Given the description of an element on the screen output the (x, y) to click on. 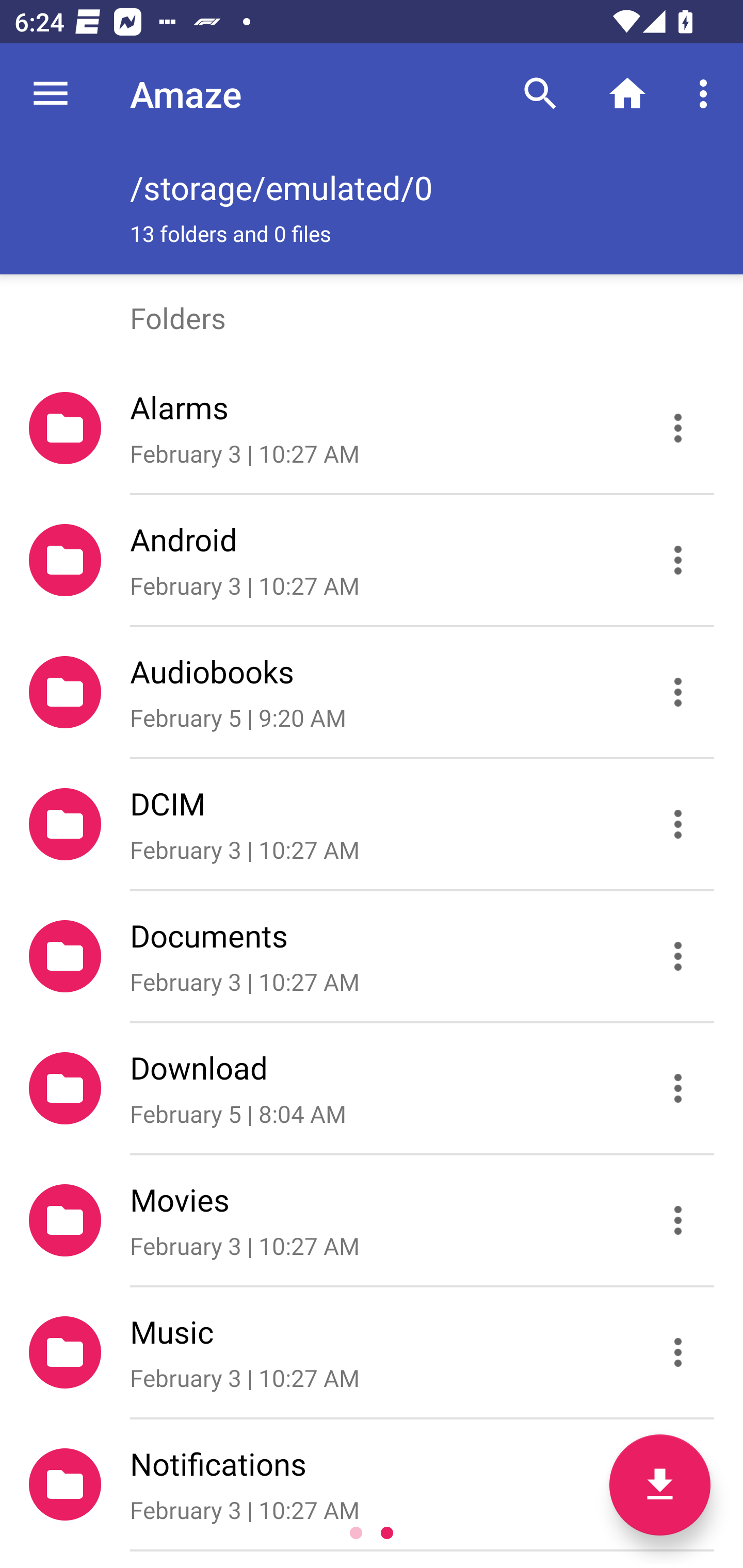
Navigate up (50, 93)
Search (540, 93)
Home (626, 93)
More options (706, 93)
Alarms February 3 | 10:27 AM (371, 427)
Android February 3 | 10:27 AM (371, 560)
Audiobooks February 5 | 9:20 AM (371, 692)
DCIM February 3 | 10:27 AM (371, 823)
Documents February 3 | 10:27 AM (371, 955)
Download February 5 | 8:04 AM (371, 1088)
Movies February 3 | 10:27 AM (371, 1220)
Music February 3 | 10:27 AM (371, 1352)
Notifications February 3 | 10:27 AM (371, 1484)
